Given the description of an element on the screen output the (x, y) to click on. 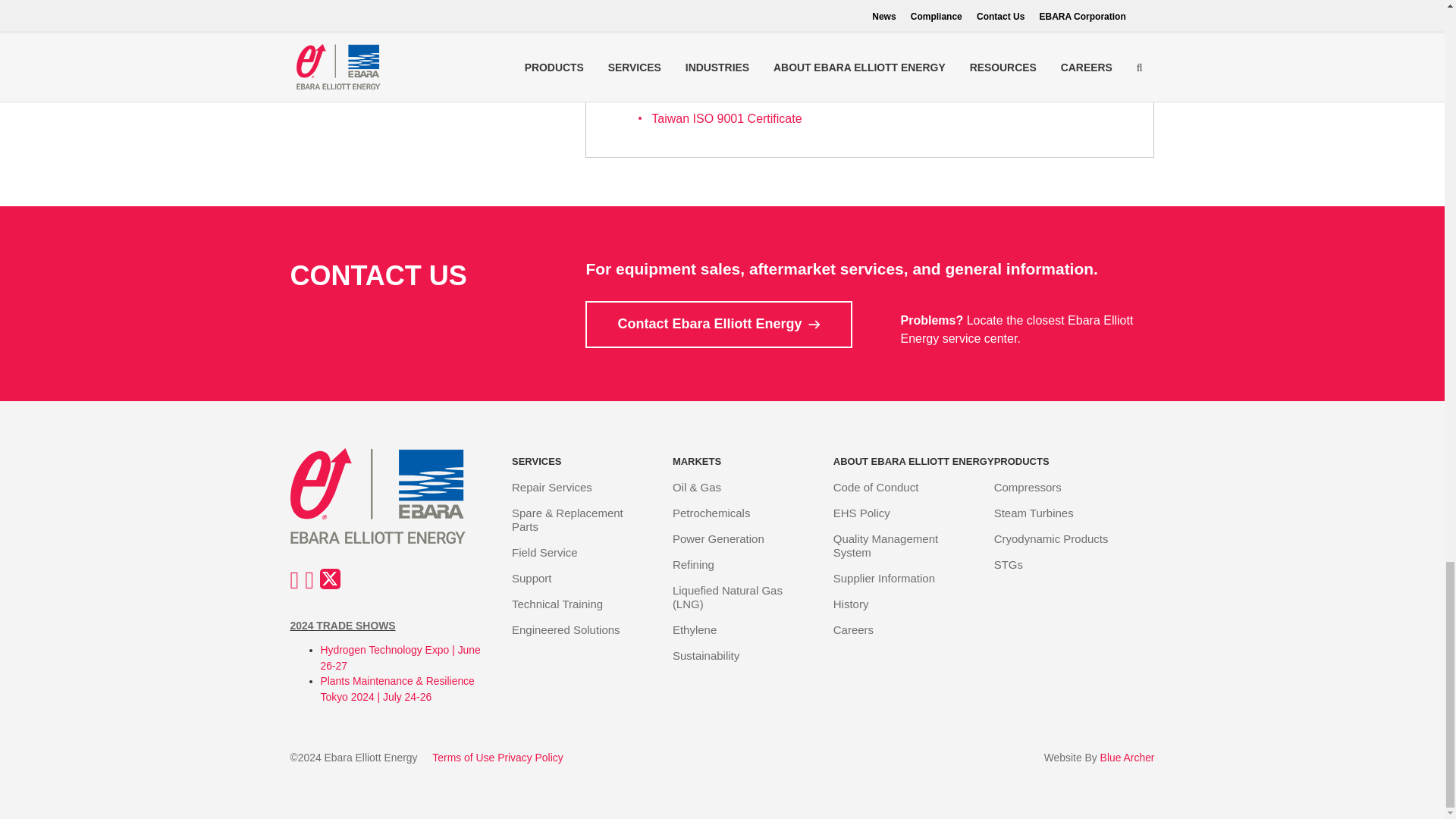
Sodegaura ISO 9001 Certificate (737, 42)
Ebara Elliott Energy Turbo (389, 495)
Sodegaura ISO 14001 Certificate (739, 67)
Korea Gas Safety Certificate (727, 16)
